Given the description of an element on the screen output the (x, y) to click on. 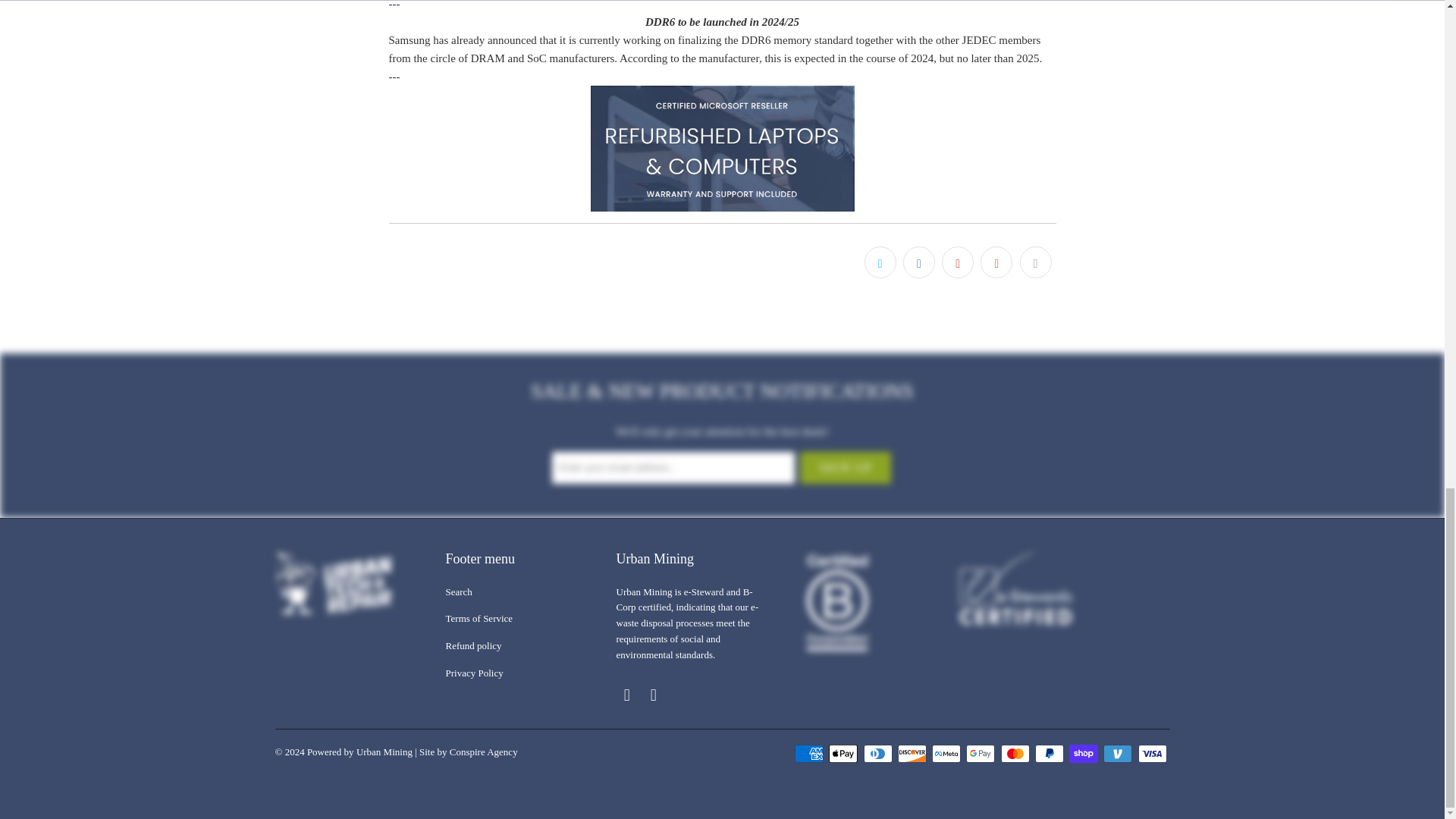
Sign Up (845, 468)
Email this to a friend (1035, 262)
Share this on Pinterest (958, 262)
Share this on Twitter (880, 262)
Share this on Facebook (918, 262)
